Given the description of an element on the screen output the (x, y) to click on. 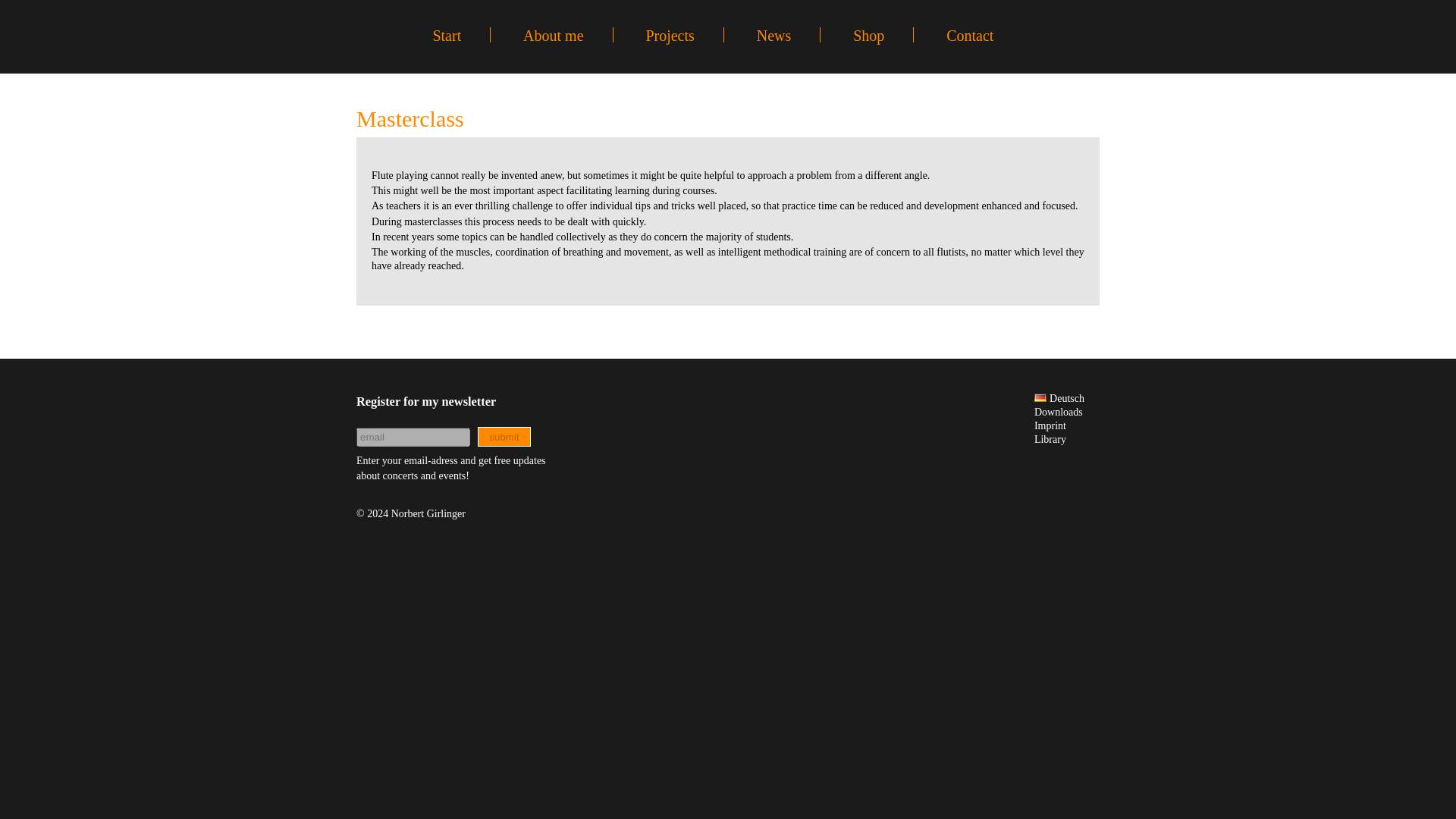
Deutsch (1058, 398)
submit (504, 436)
Contact (969, 35)
Library (1049, 439)
Shop (868, 35)
submit (504, 436)
Imprint (1049, 425)
Projects (669, 35)
News (774, 35)
Start (446, 35)
Downloads (1058, 411)
About me (552, 35)
